Given the description of an element on the screen output the (x, y) to click on. 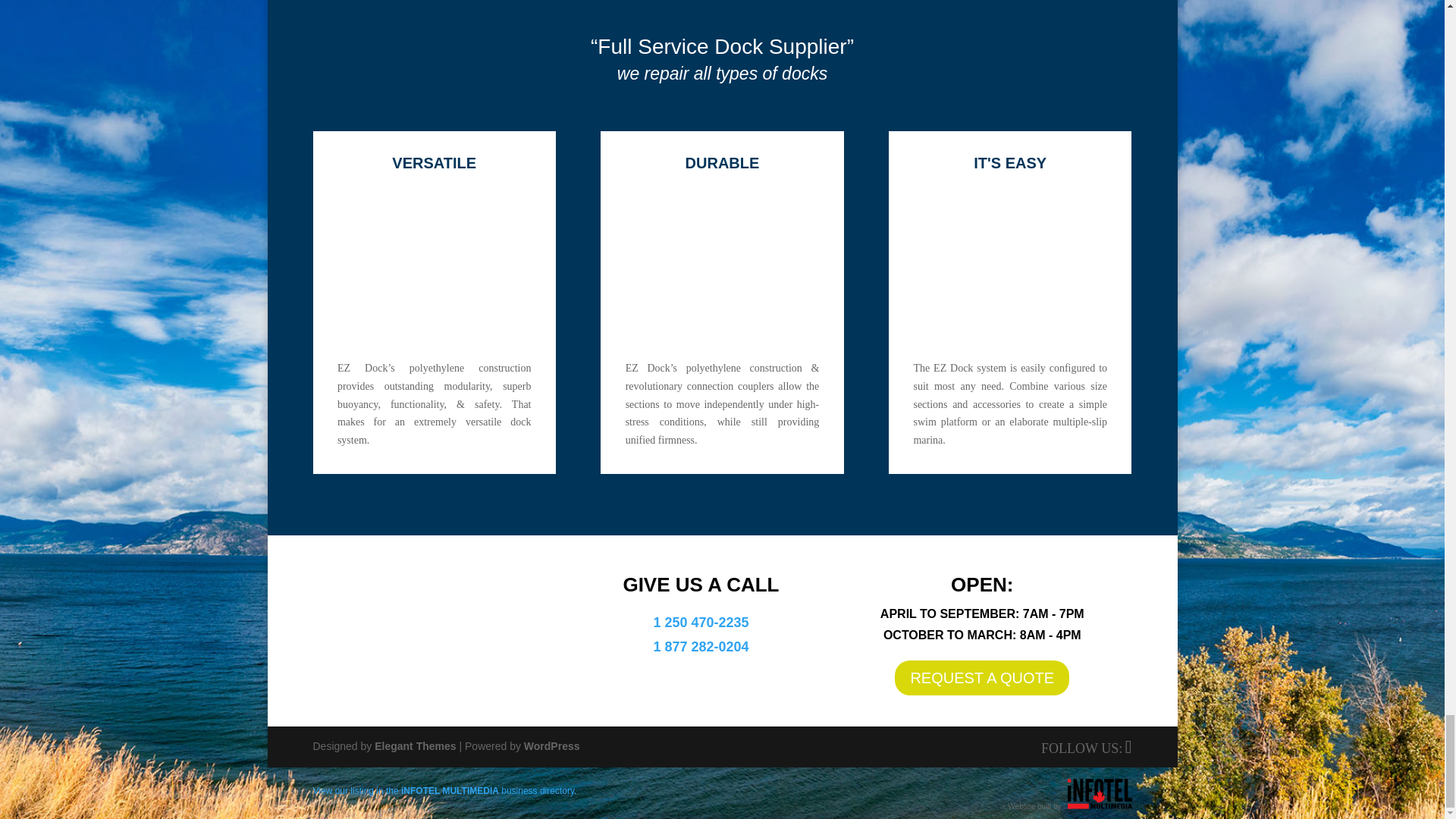
Elegant Themes (414, 746)
REQUEST A QUOTE (981, 677)
1 250 470-2235 (700, 622)
WordPress (551, 746)
1 877 282-0204 (700, 646)
